Given the description of an element on the screen output the (x, y) to click on. 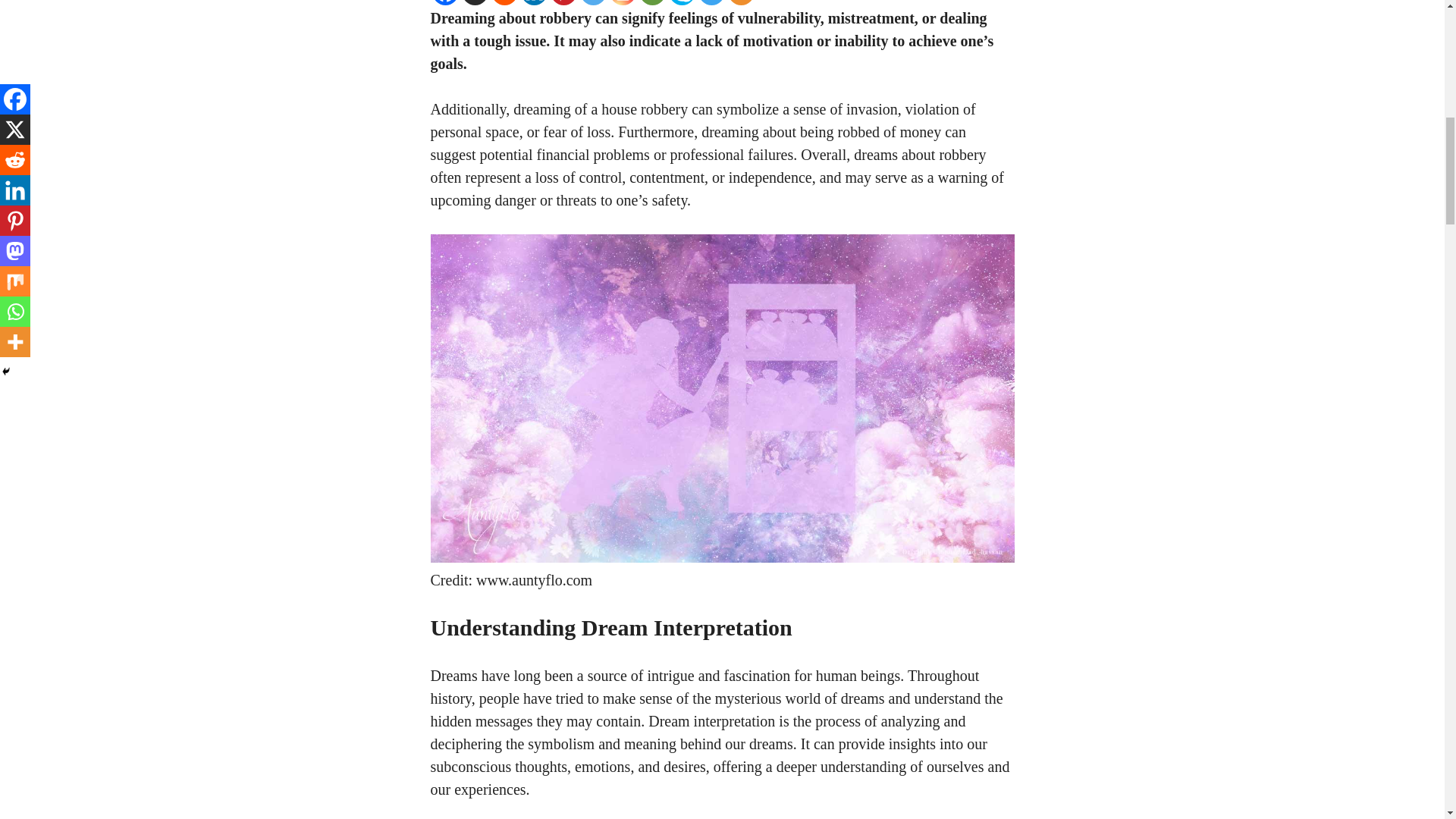
X (474, 2)
Email (652, 2)
Twitter (592, 2)
Linkedin (533, 2)
Facebook (445, 2)
Telegram (710, 2)
Pinterest (563, 2)
Reddit (505, 2)
Instagram (623, 2)
Skype (681, 2)
More (741, 2)
